Given the description of an element on the screen output the (x, y) to click on. 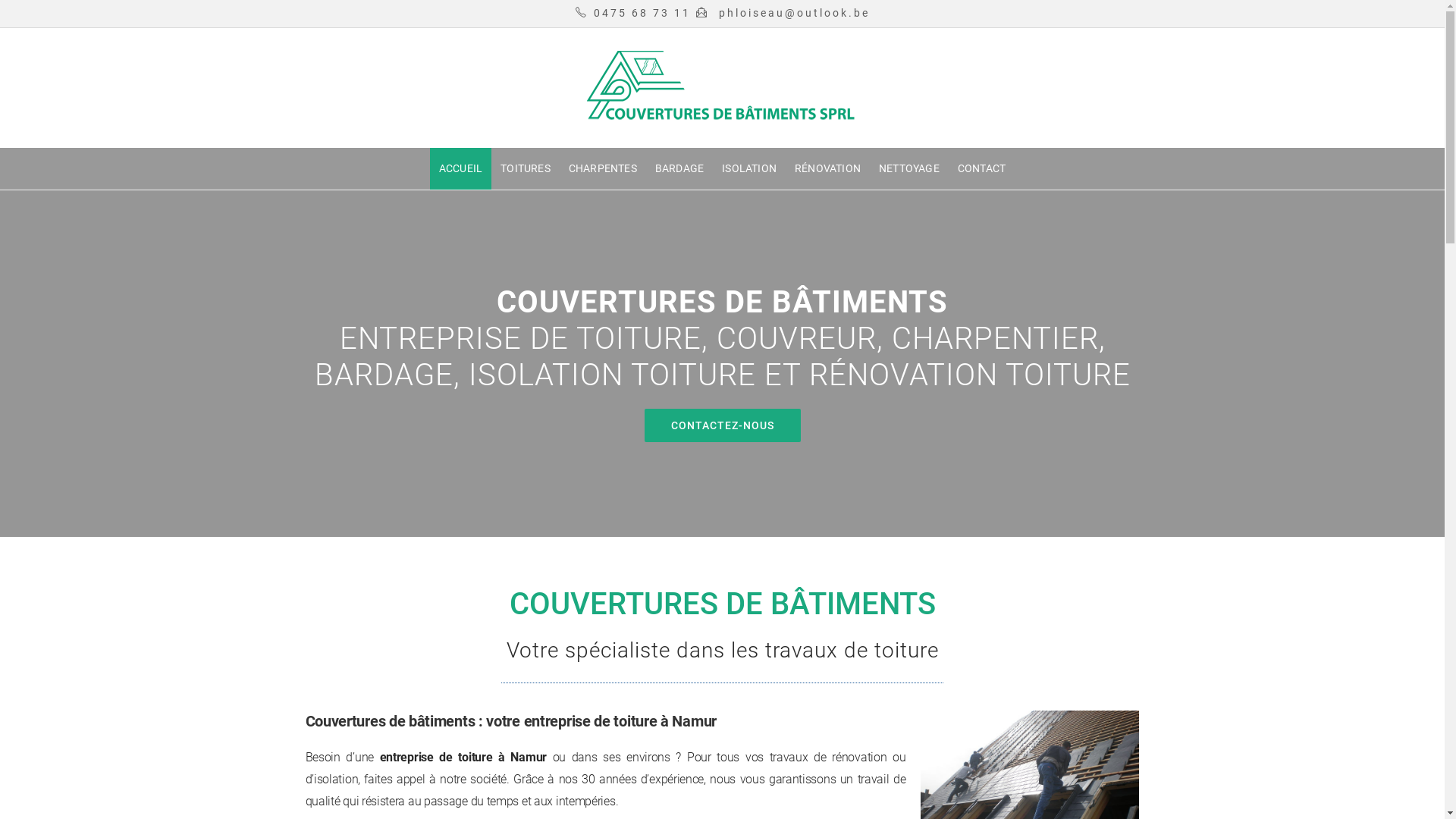
CONTACTEZ-NOUS Element type: text (722, 425)
BARDAGE Element type: text (679, 168)
ISOLATION Element type: text (748, 168)
TOITURES Element type: text (525, 168)
CHARPENTES Element type: text (602, 168)
ACCUEIL Element type: text (460, 168)
NETTOYAGE Element type: text (908, 168)
CONTACT Element type: text (981, 168)
